Given the description of an element on the screen output the (x, y) to click on. 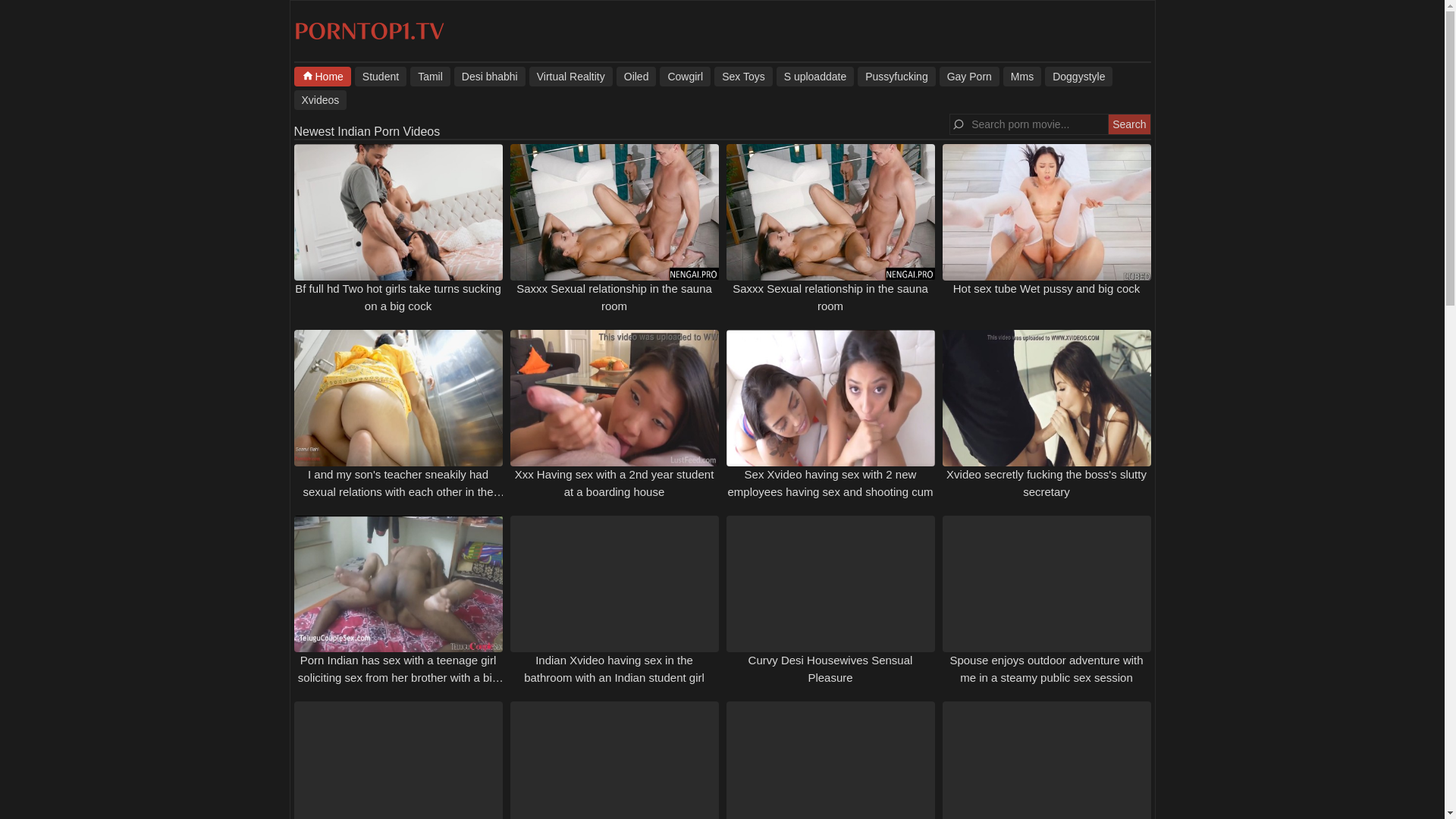
Sex Toys (743, 76)
Saxxx Sexual relationship in the sauna room (613, 296)
Mms (1022, 76)
Tamil (429, 76)
Student (380, 76)
xxx.porntop1.tv (369, 38)
Search (1129, 124)
Bf full hd Two hot girls take turns sucking on a big cock (397, 212)
Search (1129, 124)
